Given the description of an element on the screen output the (x, y) to click on. 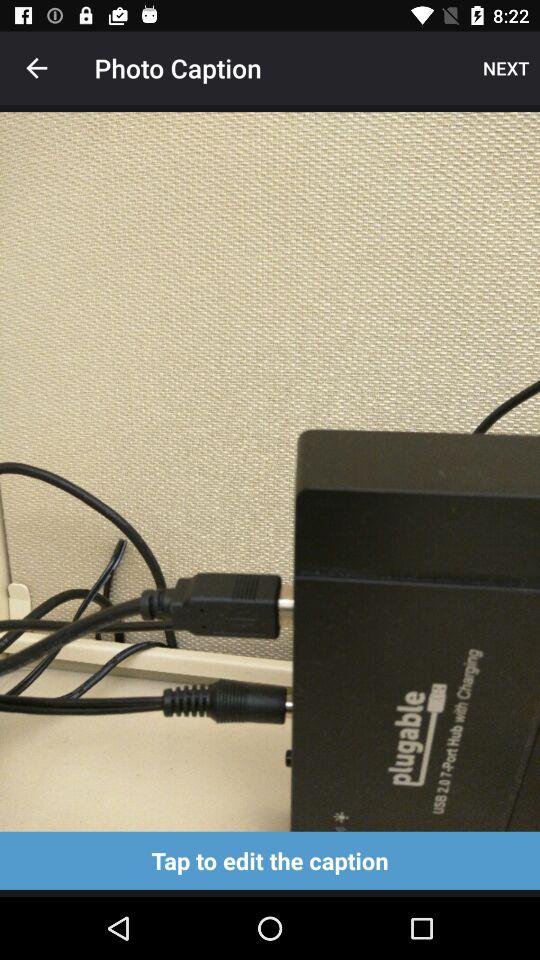
edit the caption (270, 860)
